Given the description of an element on the screen output the (x, y) to click on. 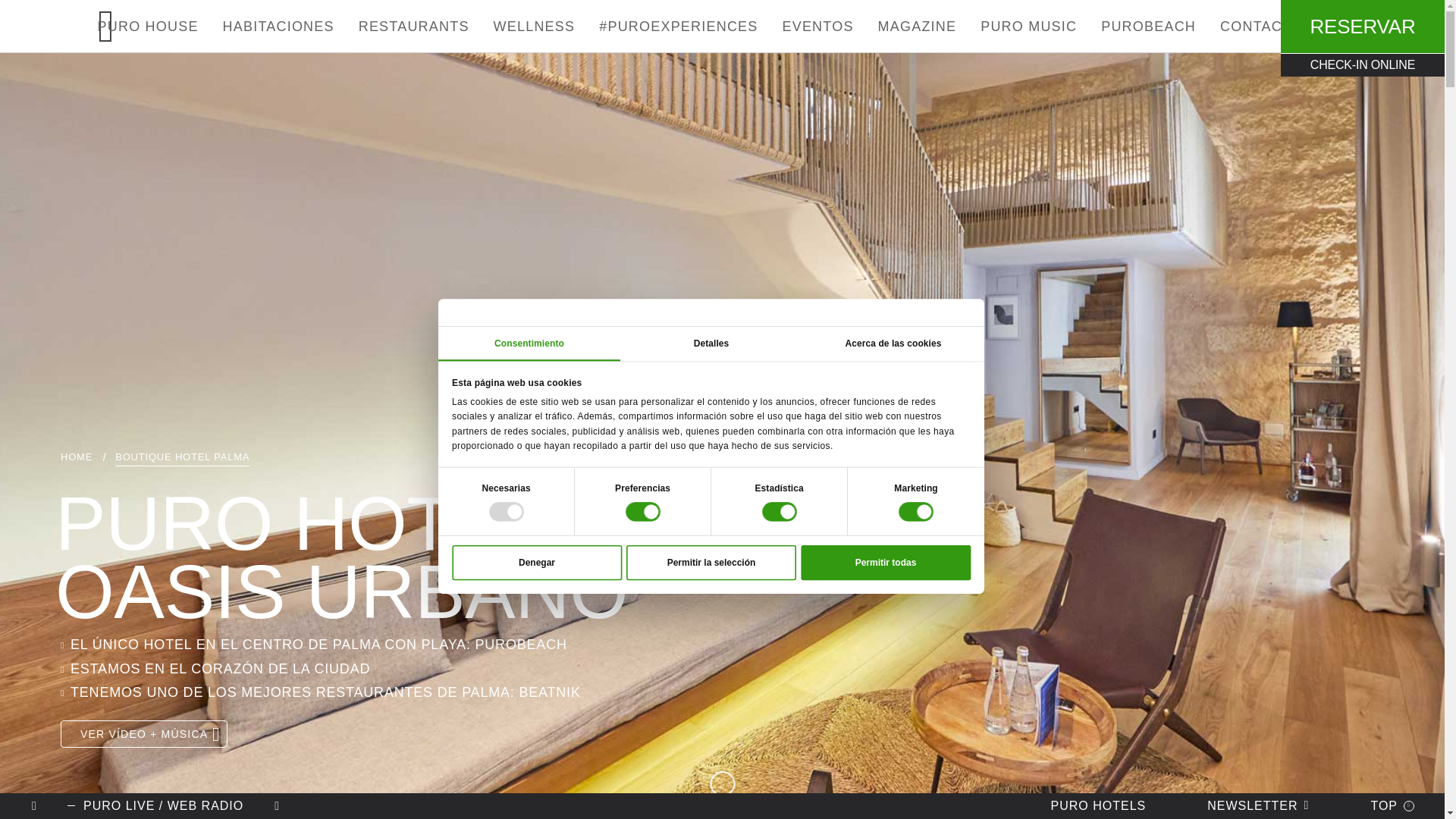
Consentimiento (551, 348)
Acerca de las cookies (915, 348)
Detalles (733, 348)
